Given the description of an element on the screen output the (x, y) to click on. 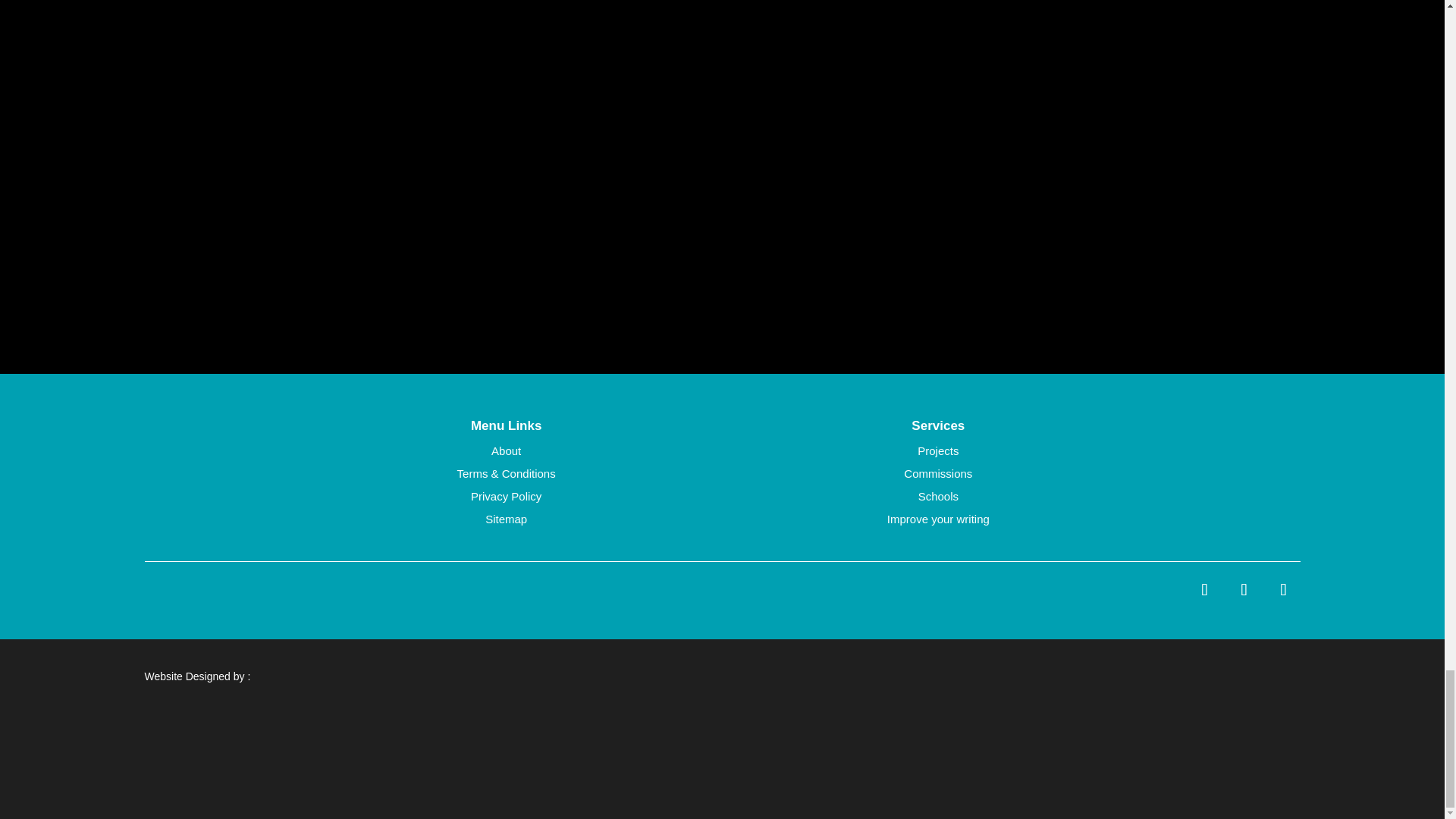
Follow on Instagram (1283, 589)
Follow on Facebook (1204, 589)
Follow on X (1243, 589)
